Given the description of an element on the screen output the (x, y) to click on. 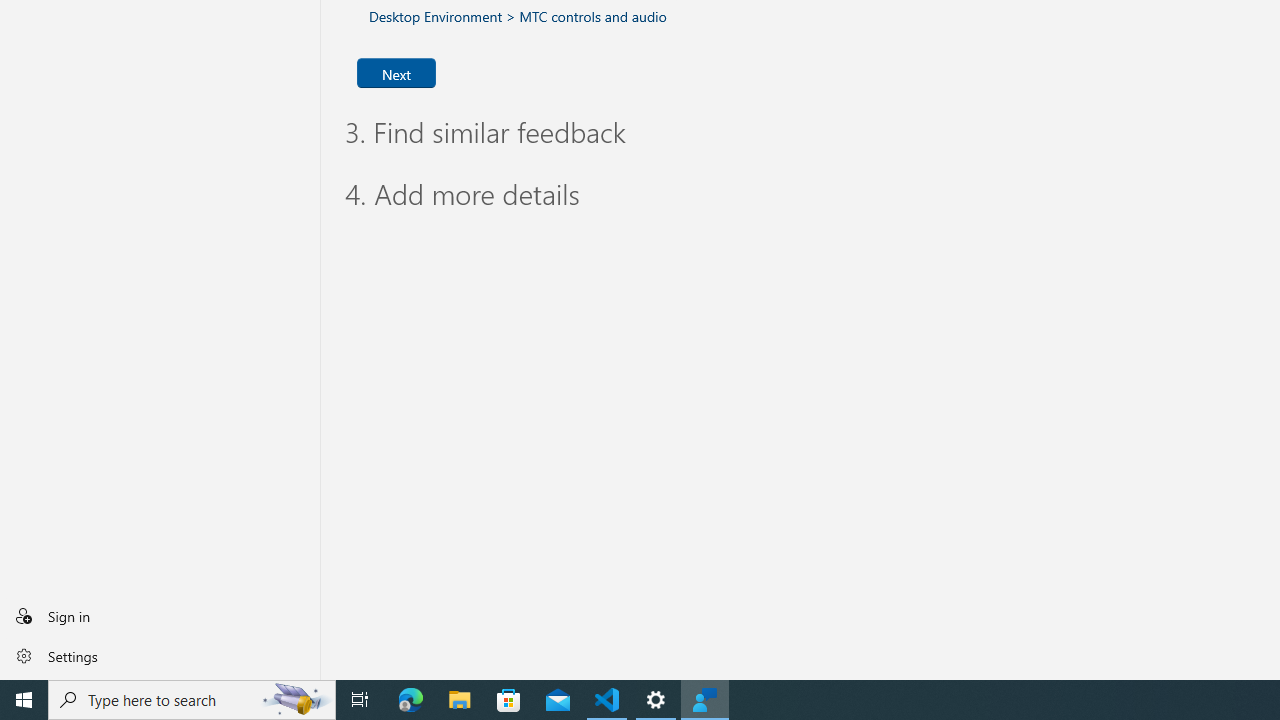
Settings - 1 running window (656, 699)
Start (24, 699)
Microsoft Store (509, 699)
Settings (159, 655)
Next (396, 72)
Feedback Hub - 1 running window (704, 699)
Search highlights icon opens search home window (295, 699)
Task View (359, 699)
Microsoft Edge (411, 699)
Type here to search (191, 699)
Visual Studio Code - 1 running window (607, 699)
File Explorer (460, 699)
Sign in (159, 616)
